Given the description of an element on the screen output the (x, y) to click on. 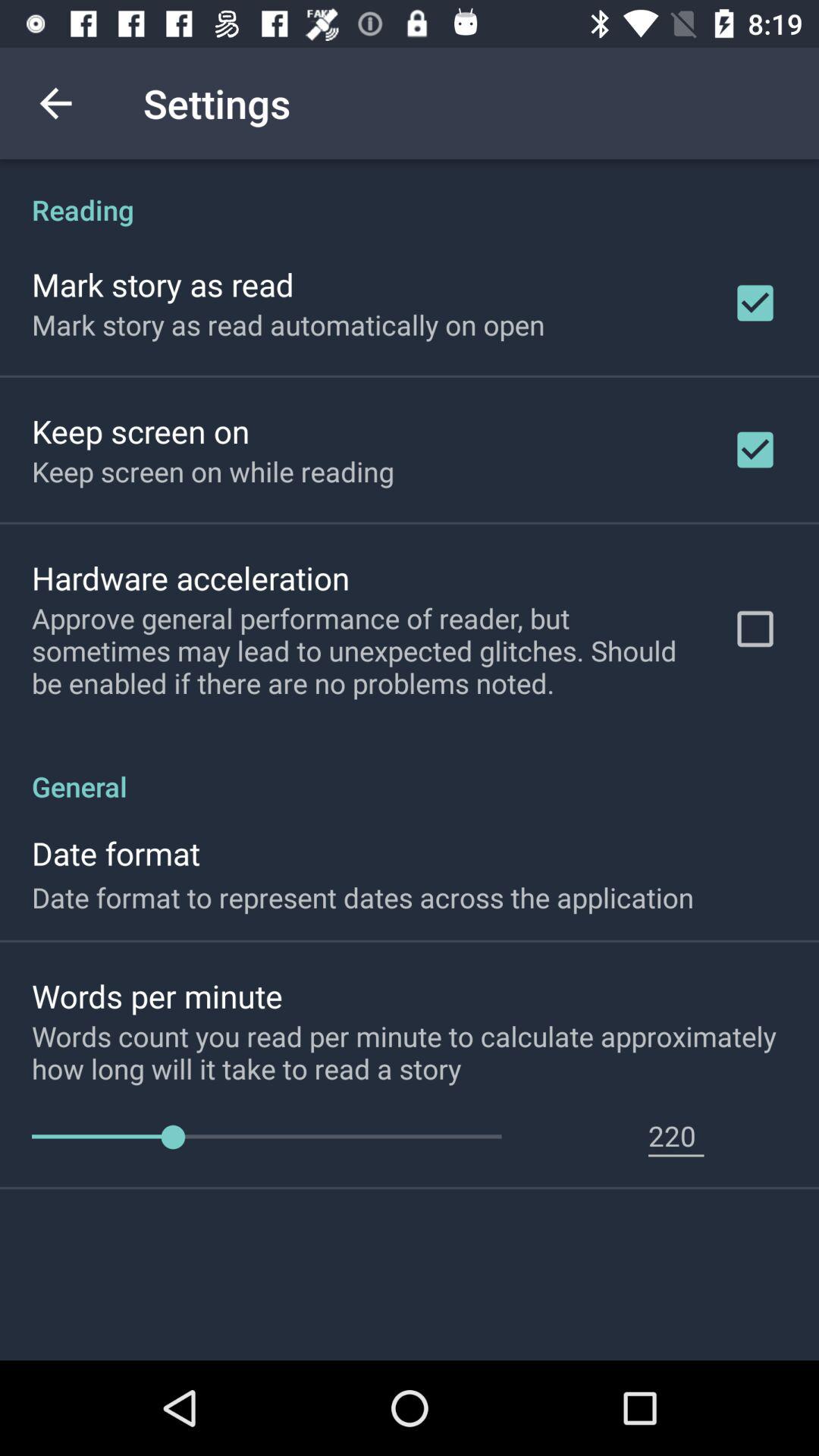
flip until the words count you item (425, 1052)
